Given the description of an element on the screen output the (x, y) to click on. 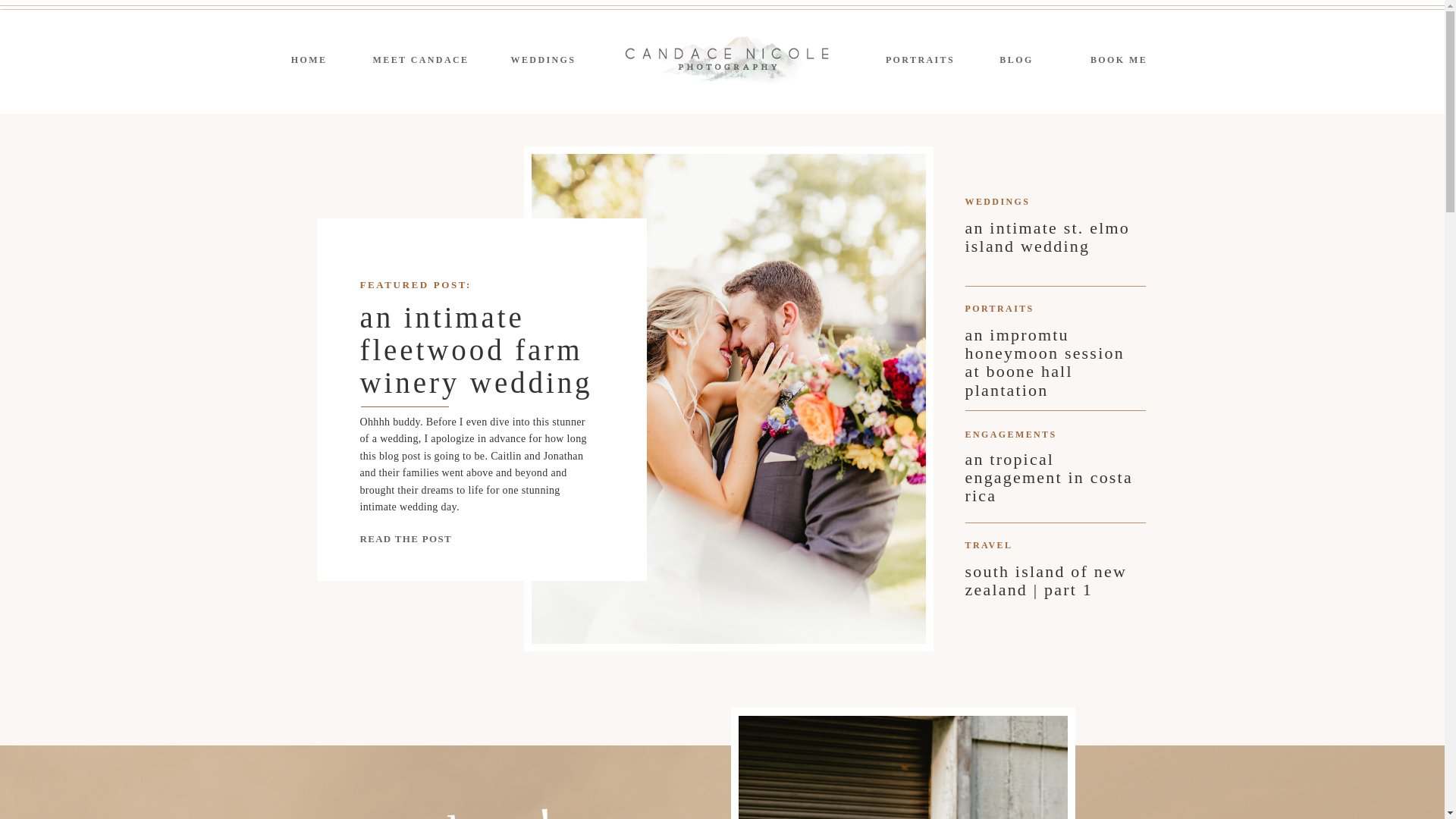
BOOK ME (1119, 60)
READ THE POST (409, 538)
PORTRAITS (919, 60)
HOME (308, 60)
WEDDINGS (543, 60)
an tropical engagement in costa rica (1048, 484)
an intimate fleetwood farm winery wedding (486, 353)
an intimate st. elmo island wedding (1048, 241)
MEET CANDACE (420, 60)
